Given the description of an element on the screen output the (x, y) to click on. 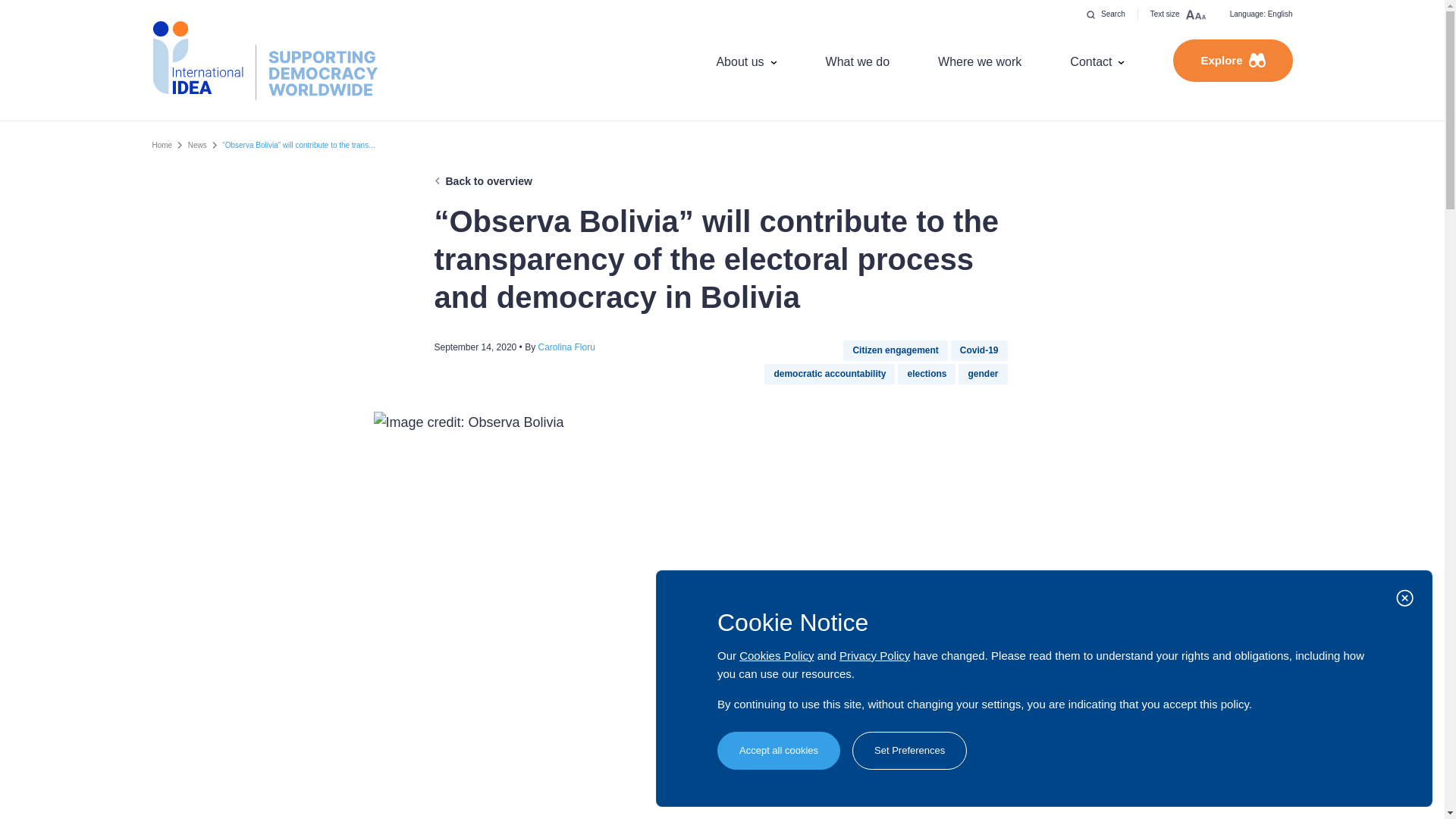
Contact (1097, 60)
Language: English (1260, 14)
Search (1106, 14)
What we do (857, 61)
Where we work (979, 61)
About us (746, 60)
Text size (1177, 14)
